Given the description of an element on the screen output the (x, y) to click on. 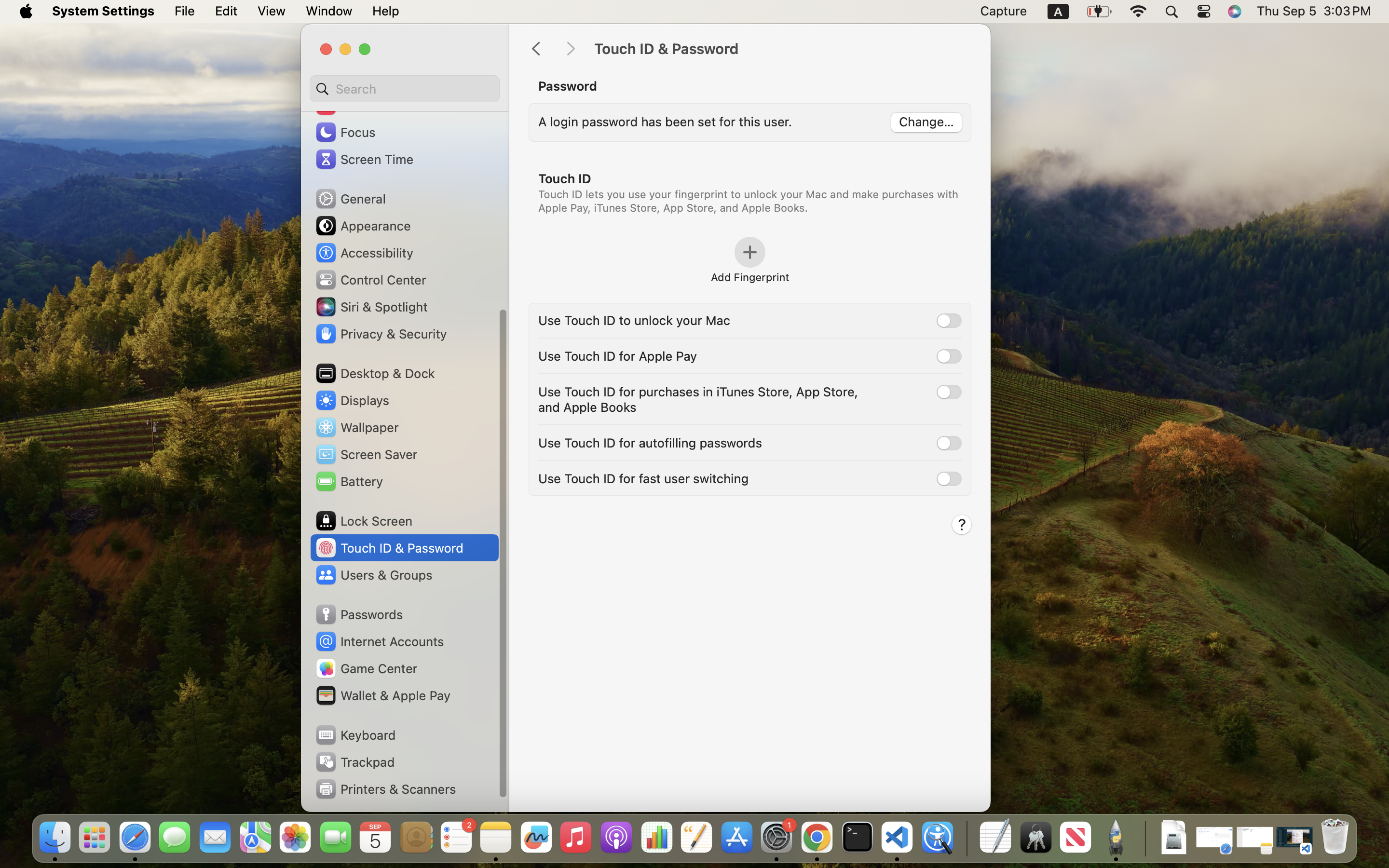
Internet Accounts Element type: AXStaticText (378, 640)
Use Touch ID for Apple Pay Element type: AXStaticText (617, 355)
Trackpad Element type: AXStaticText (354, 761)
Appearance Element type: AXStaticText (362, 225)
Privacy & Security Element type: AXStaticText (380, 333)
